Given the description of an element on the screen output the (x, y) to click on. 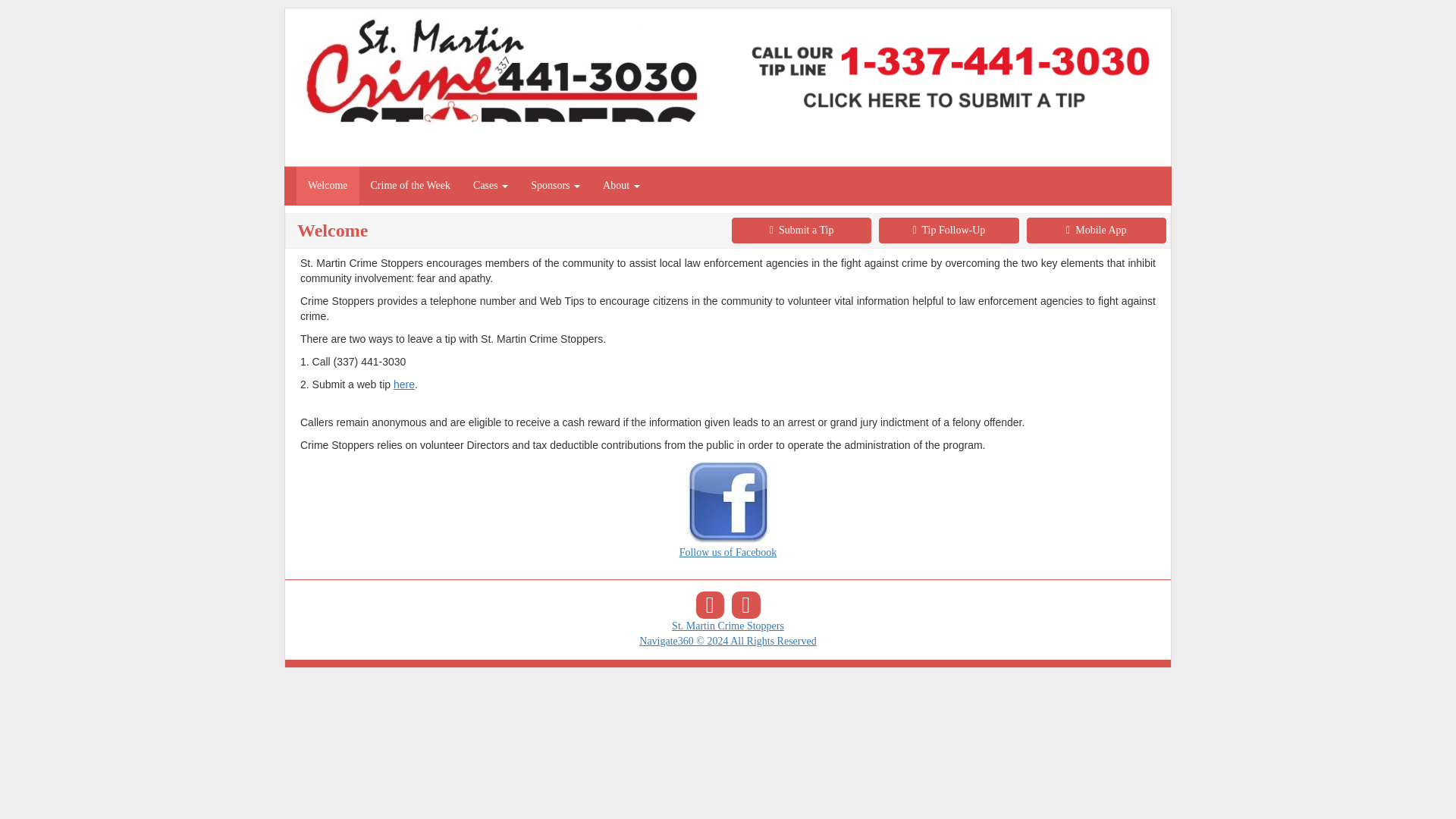
Welcome (328, 185)
 Submit a Tip (801, 230)
Cases (490, 185)
Our Mobile App (746, 605)
Follow us of Facebook (728, 526)
 Tip Follow-Up (948, 230)
here (403, 384)
 Mobile App (1096, 230)
St. Martin Crime Stoppers (727, 625)
About (620, 185)
Crime of the Week (411, 185)
Sponsors (555, 185)
